Given the description of an element on the screen output the (x, y) to click on. 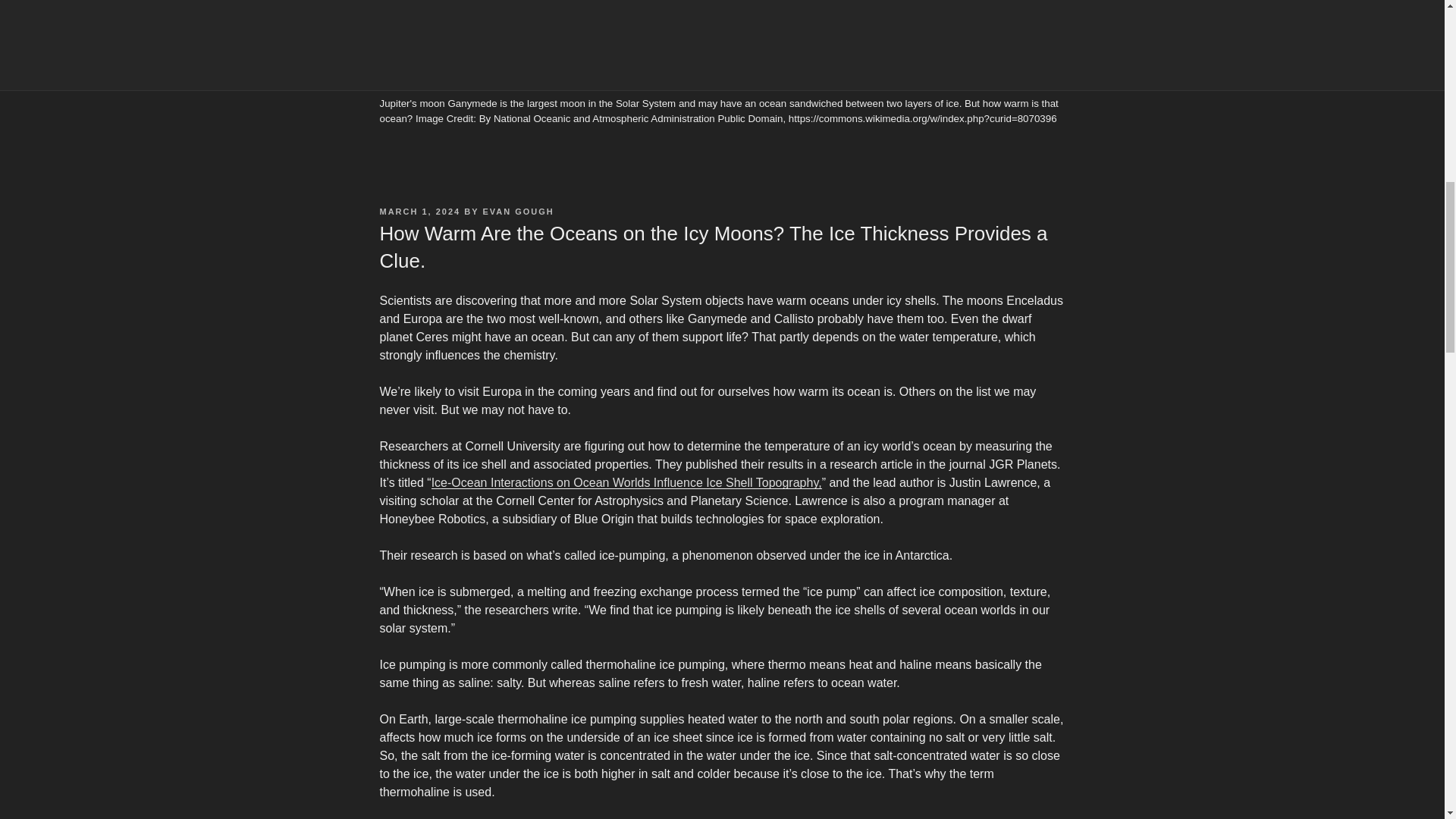
MARCH 1, 2024 (419, 211)
EVAN GOUGH (517, 211)
